Given the description of an element on the screen output the (x, y) to click on. 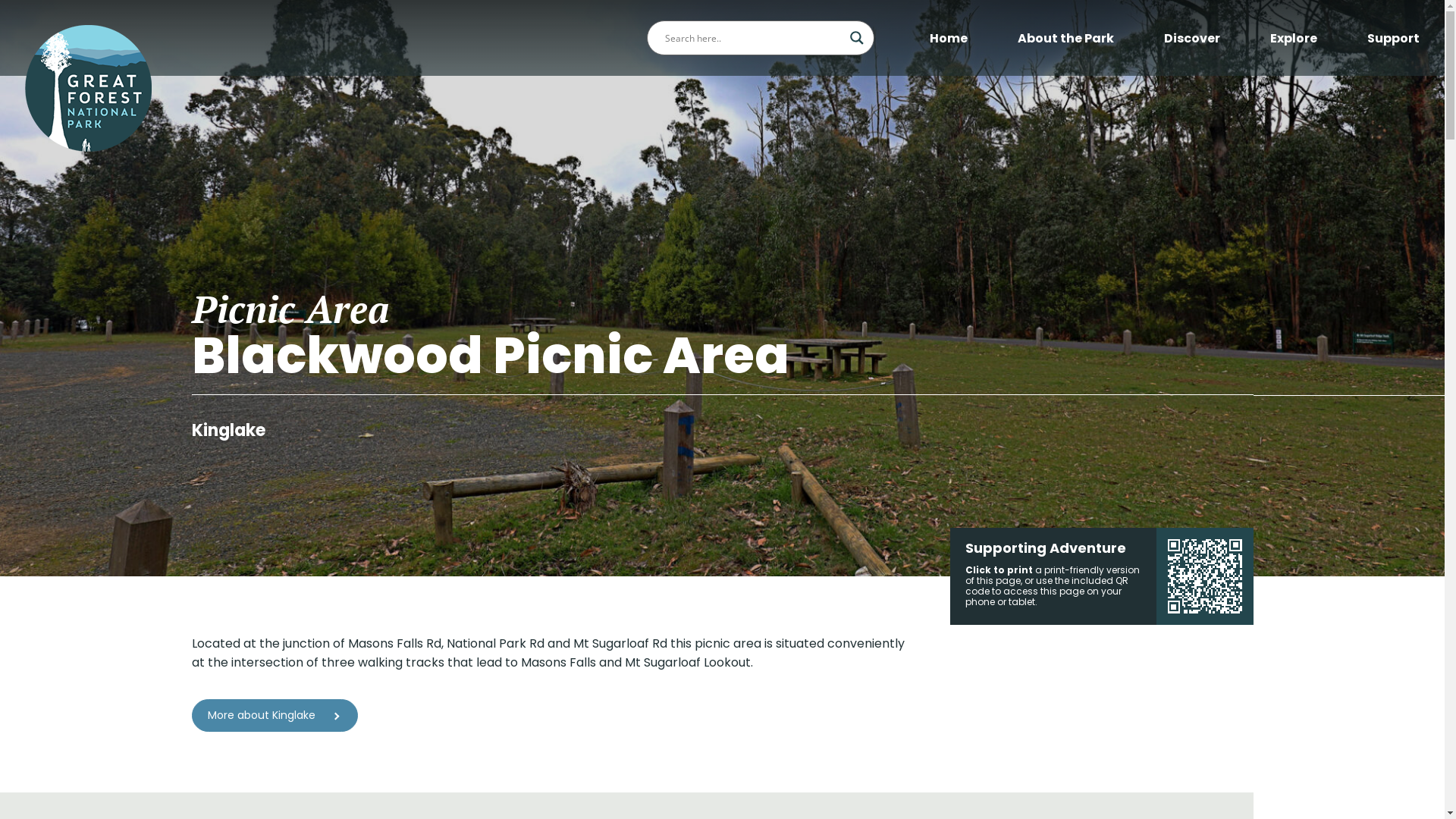
Home Element type: text (948, 37)
More about Kinglake Element type: text (274, 715)
https://www.greatforestnationalpark.com.au/a835 Element type: hover (1203, 575)
